Given the description of an element on the screen output the (x, y) to click on. 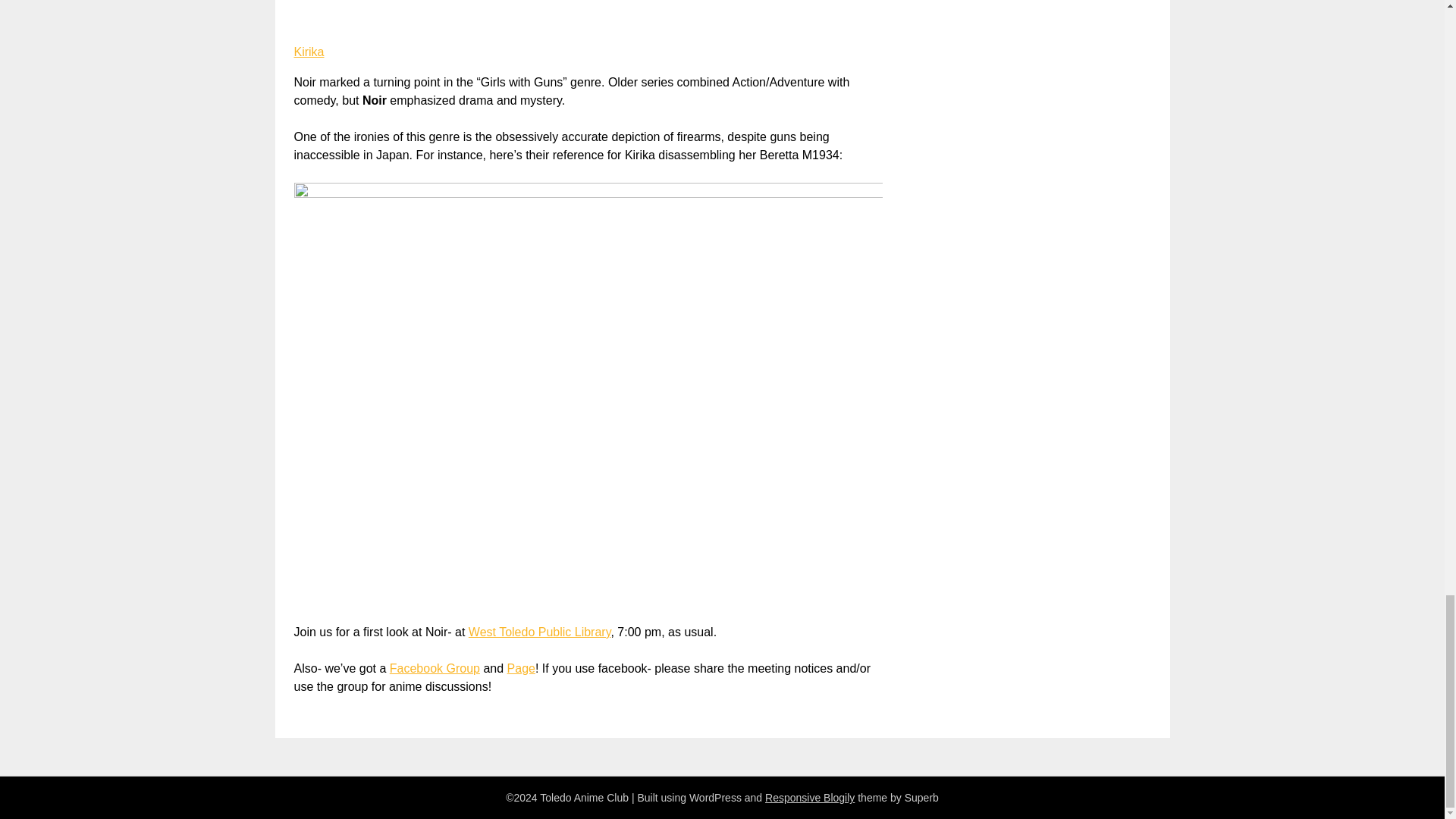
Responsive Blogily (809, 797)
West Toledo Public Library (539, 631)
Page (520, 667)
Kirika (309, 51)
Facebook Group (435, 667)
